Given the description of an element on the screen output the (x, y) to click on. 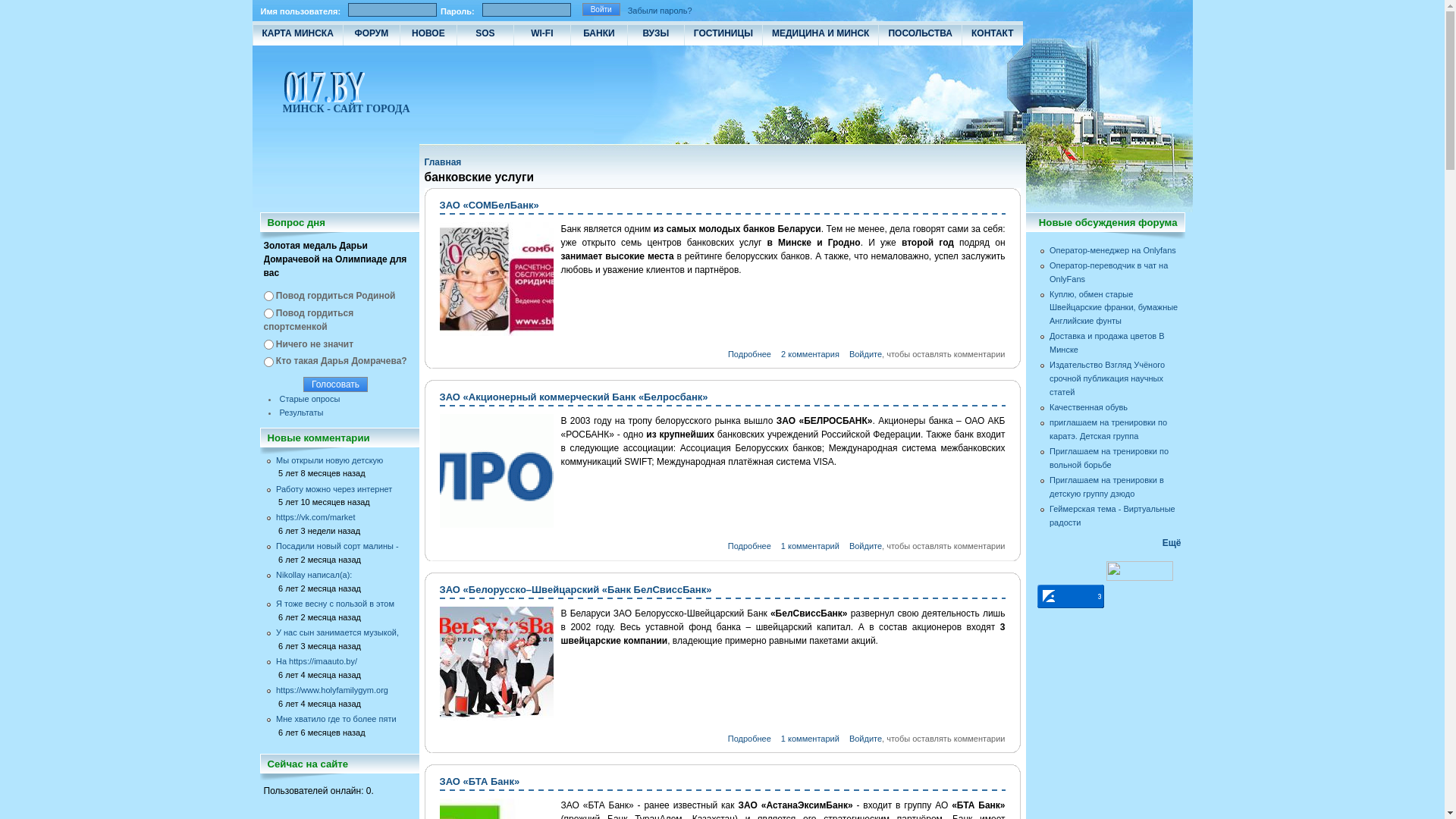
WI-FI Element type: text (541, 33)
SOS Element type: text (484, 33)
https://www.holyfamilygym.org Element type: text (341, 690)
https://vk.com/market Element type: text (341, 517)
